Given the description of an element on the screen output the (x, y) to click on. 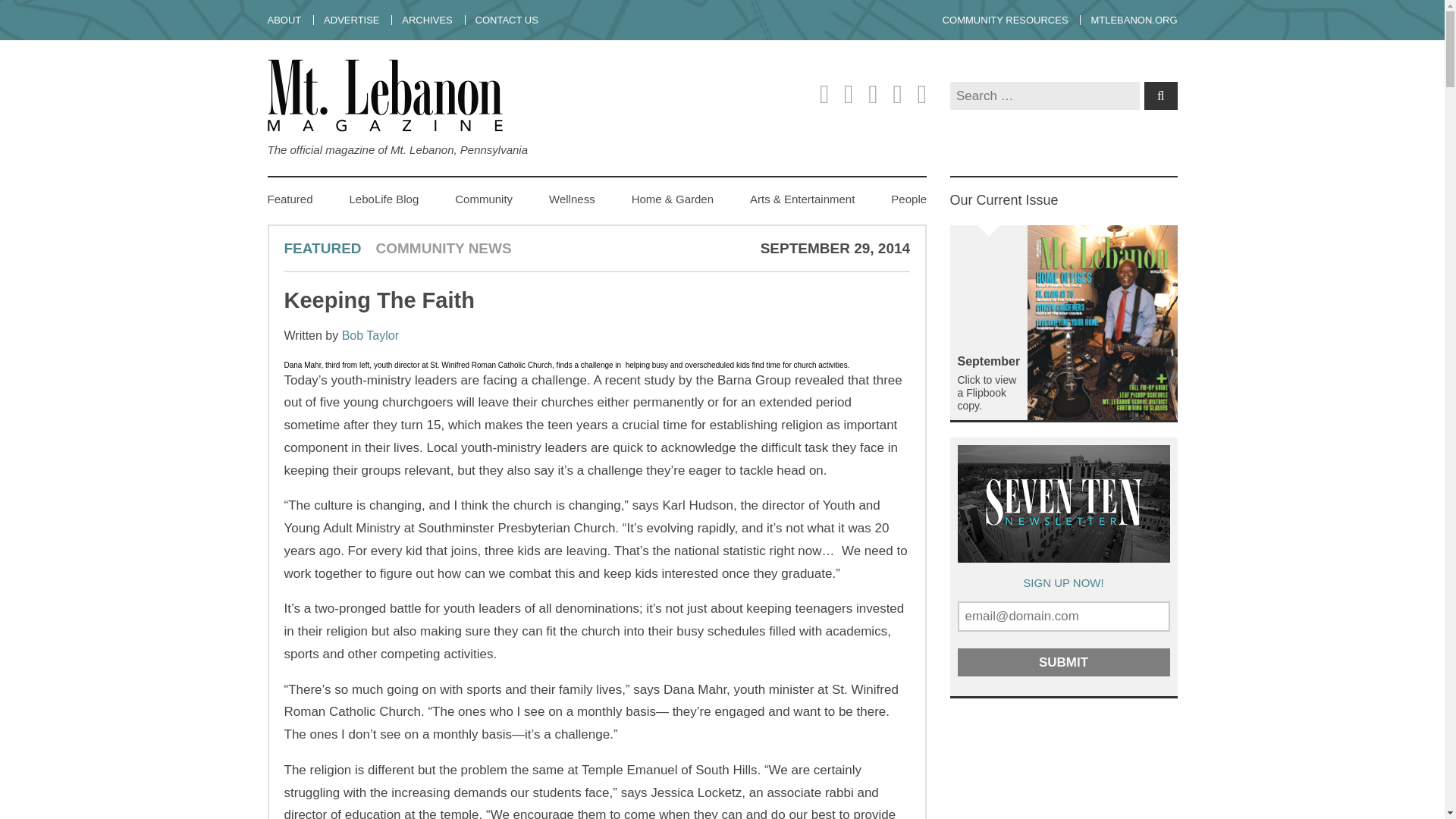
Search for: (1043, 95)
Submit (1062, 662)
YouTube video player (1062, 766)
